Given the description of an element on the screen output the (x, y) to click on. 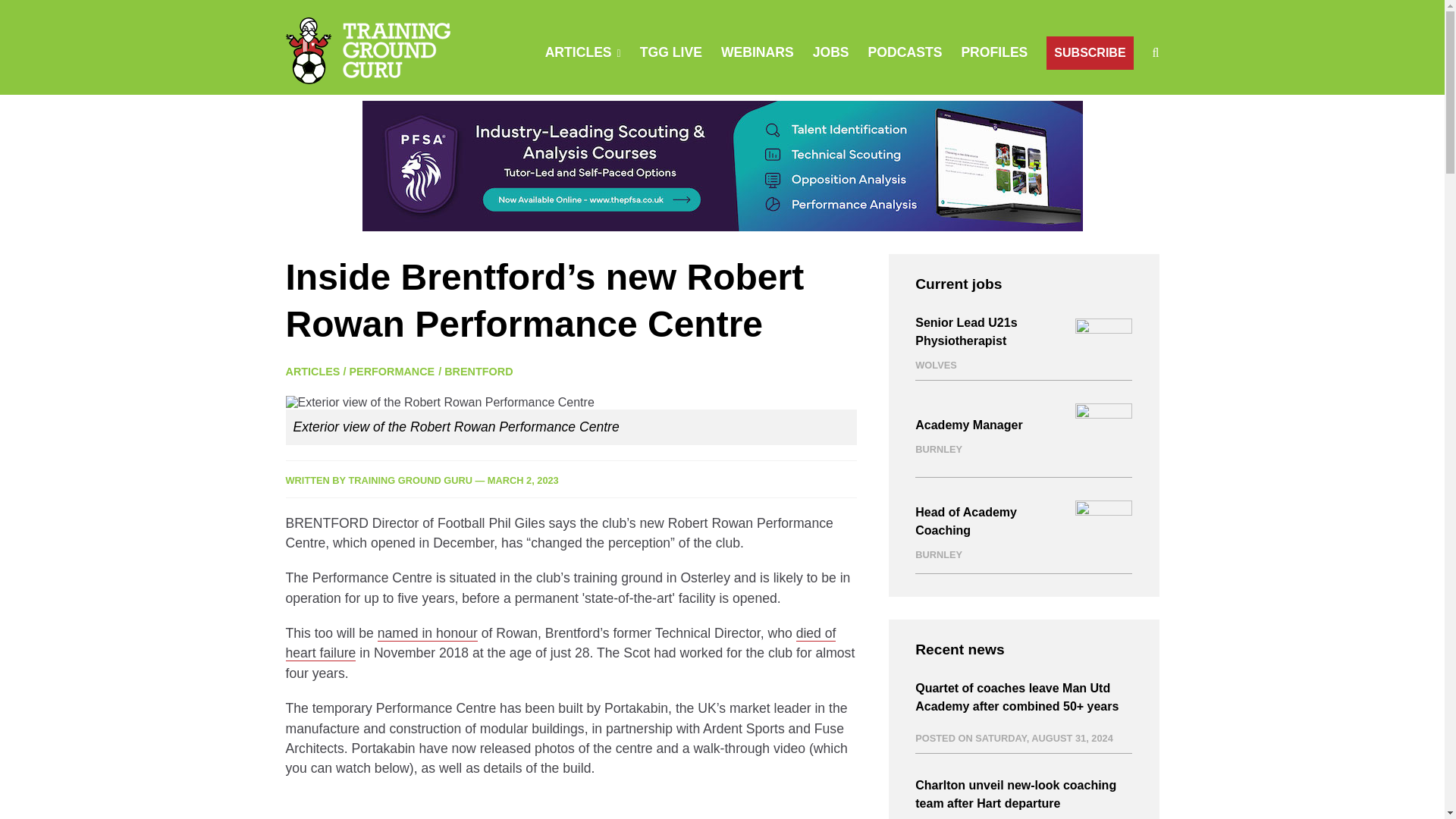
PROFILES (993, 52)
died of heart failure (560, 642)
Webinars (756, 52)
Profiles (993, 52)
named in honour (427, 633)
Podcasts (904, 52)
ARTICLES (577, 52)
TGG Live 2024 (670, 52)
PODCASTS (904, 52)
WEBINARS (756, 52)
